Given the description of an element on the screen output the (x, y) to click on. 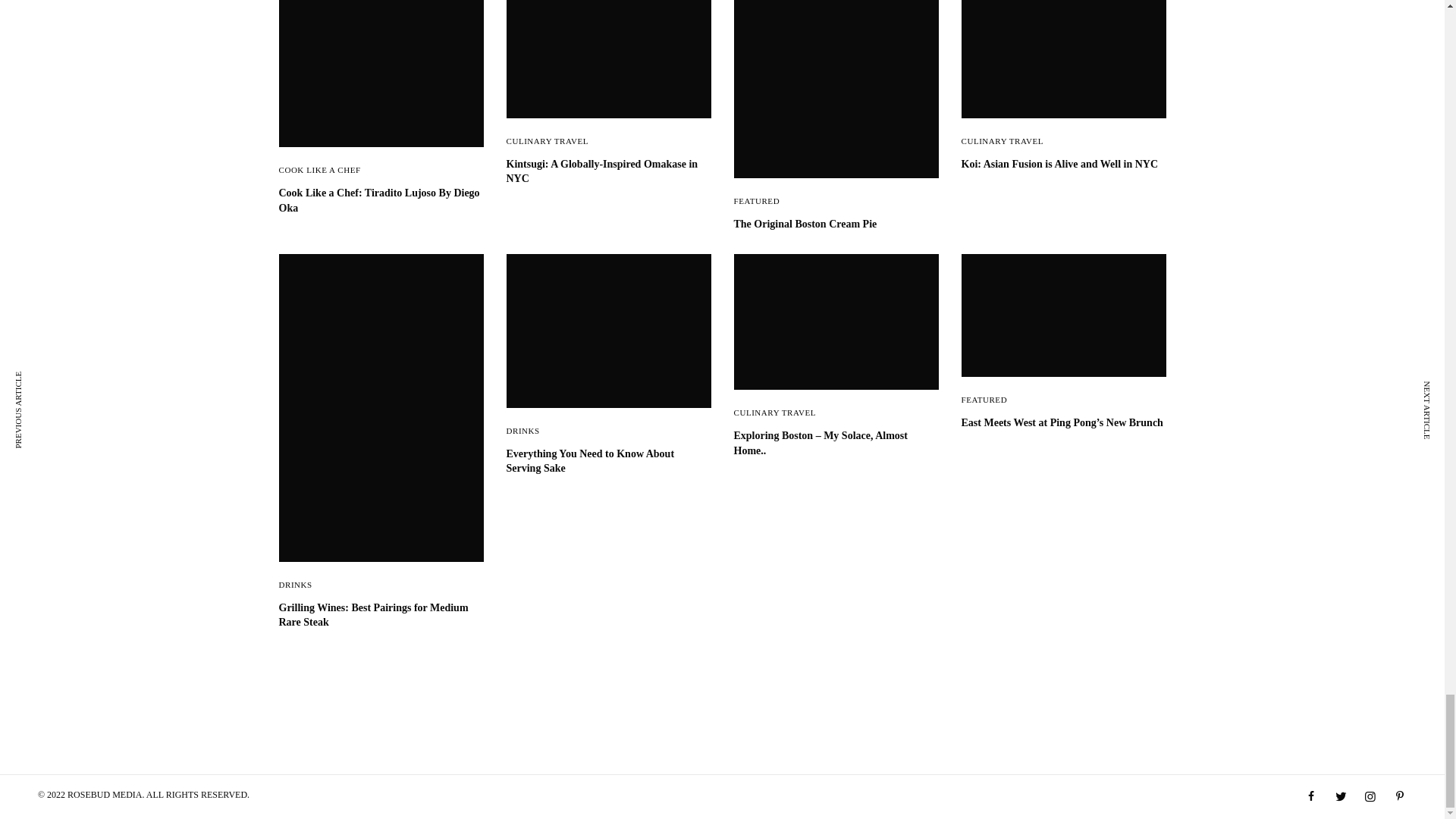
Grilling Wines: Best Pairings for Medium Rare Steak (381, 614)
Cook Like a Chef: Tiradito Lujoso By Diego Oka (381, 200)
Everything You Need to Know About Serving Sake (608, 460)
Kintsugi: A Globally-Inspired Omakase in NYC (608, 171)
The Original Boston Cream Pie (836, 224)
Koi: Asian Fusion is Alive and Well in NYC (1063, 164)
